Given the description of an element on the screen output the (x, y) to click on. 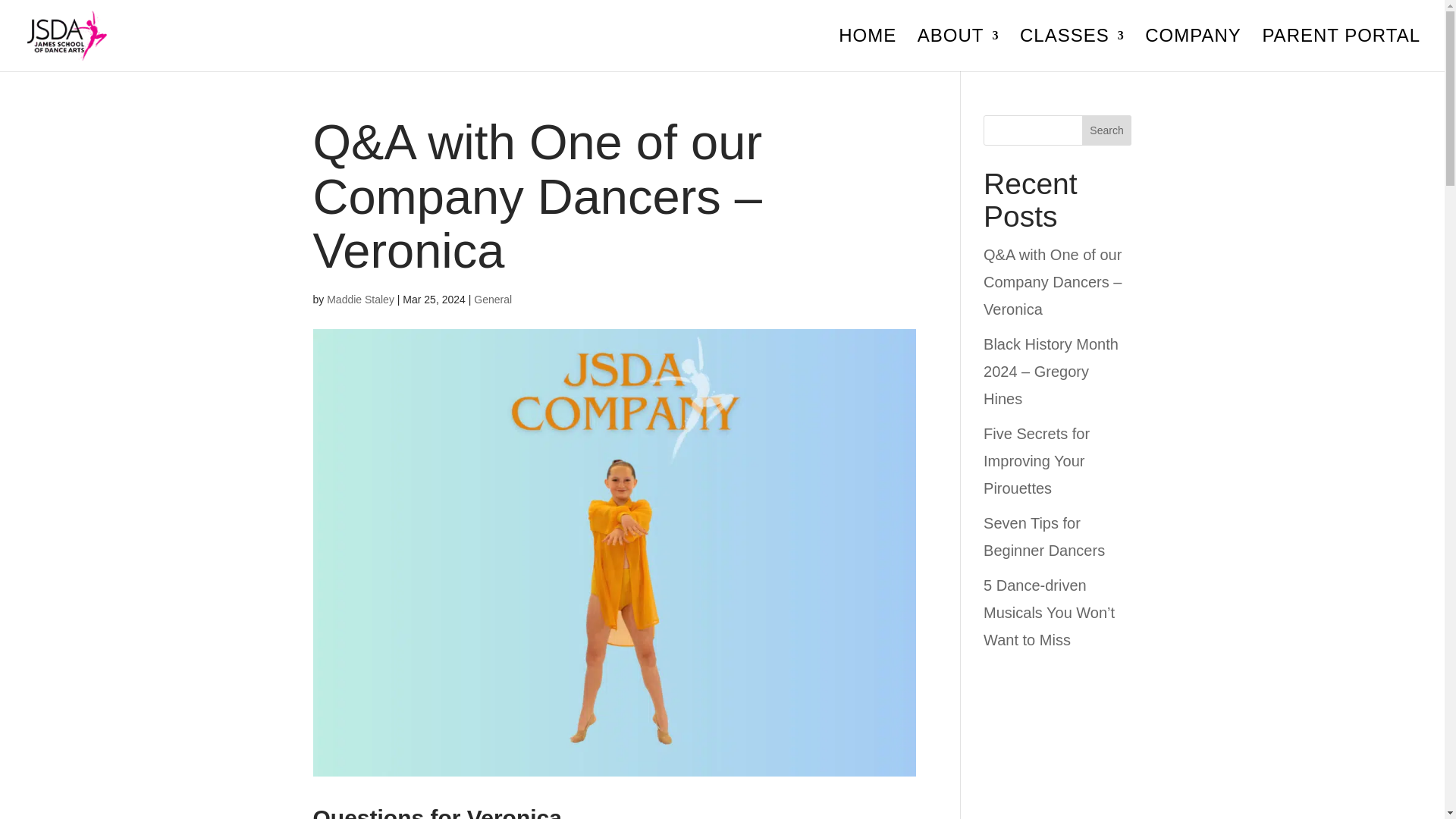
Search (1106, 130)
Search (1106, 130)
ABOUT (957, 50)
Posts by Maddie Staley (360, 298)
Five Secrets for Improving Your Pirouettes (1036, 460)
Seven Tips for Beginner Dancers (1044, 536)
PARENT PORTAL (1341, 50)
Maddie Staley (360, 298)
General (493, 298)
HOME (867, 50)
CLASSES (1072, 50)
COMPANY (1192, 50)
